Given the description of an element on the screen output the (x, y) to click on. 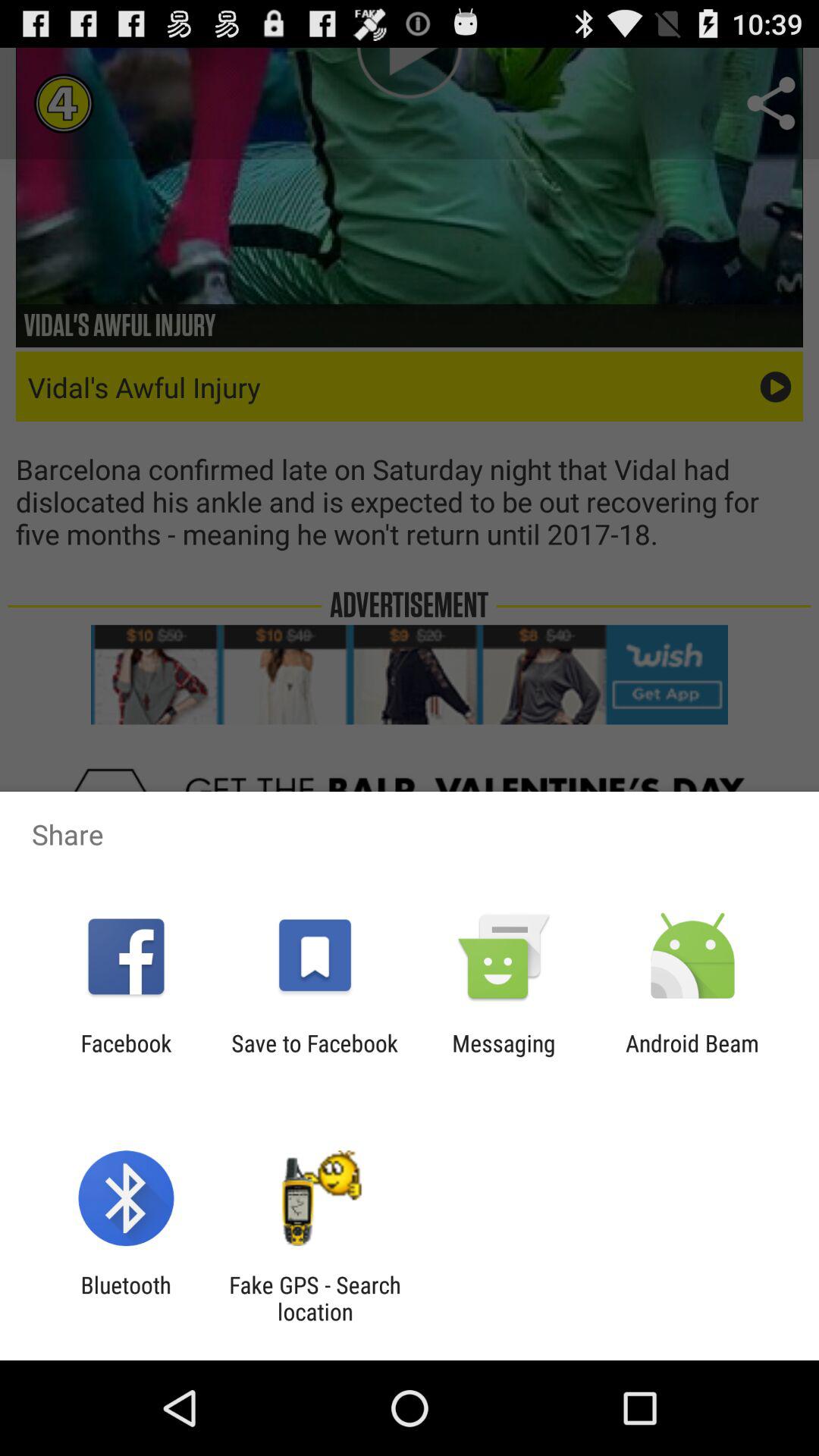
open the item next to messaging item (314, 1056)
